Given the description of an element on the screen output the (x, y) to click on. 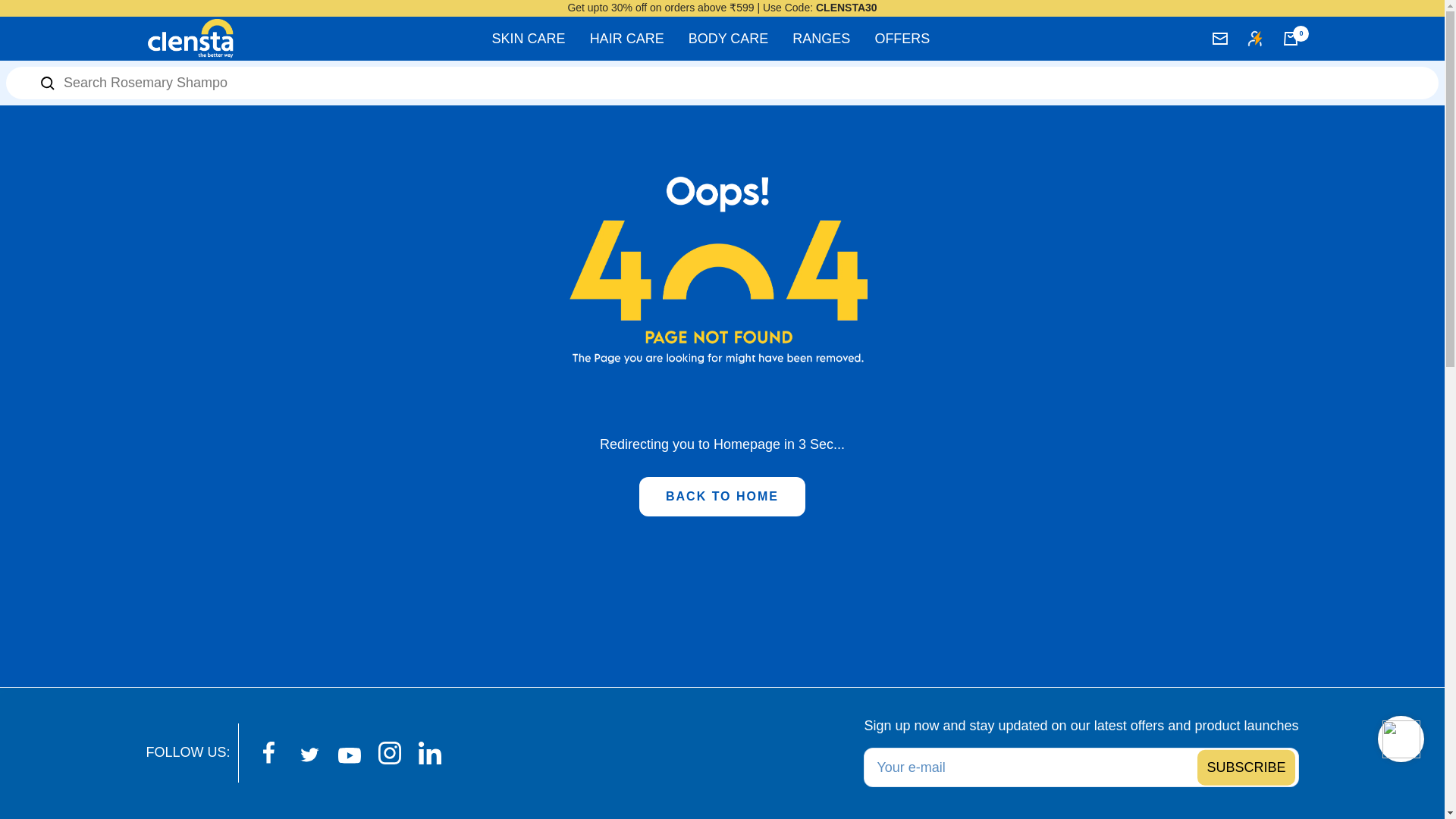
0 (1290, 38)
HAIR CARE (626, 38)
SKIN CARE (529, 38)
BODY CARE (728, 38)
RANGES (821, 38)
Newsletter (1219, 38)
OFFERS (902, 38)
Register (1245, 767)
SUBSCRIBE (1245, 767)
Clensta (188, 38)
